Given the description of an element on the screen output the (x, y) to click on. 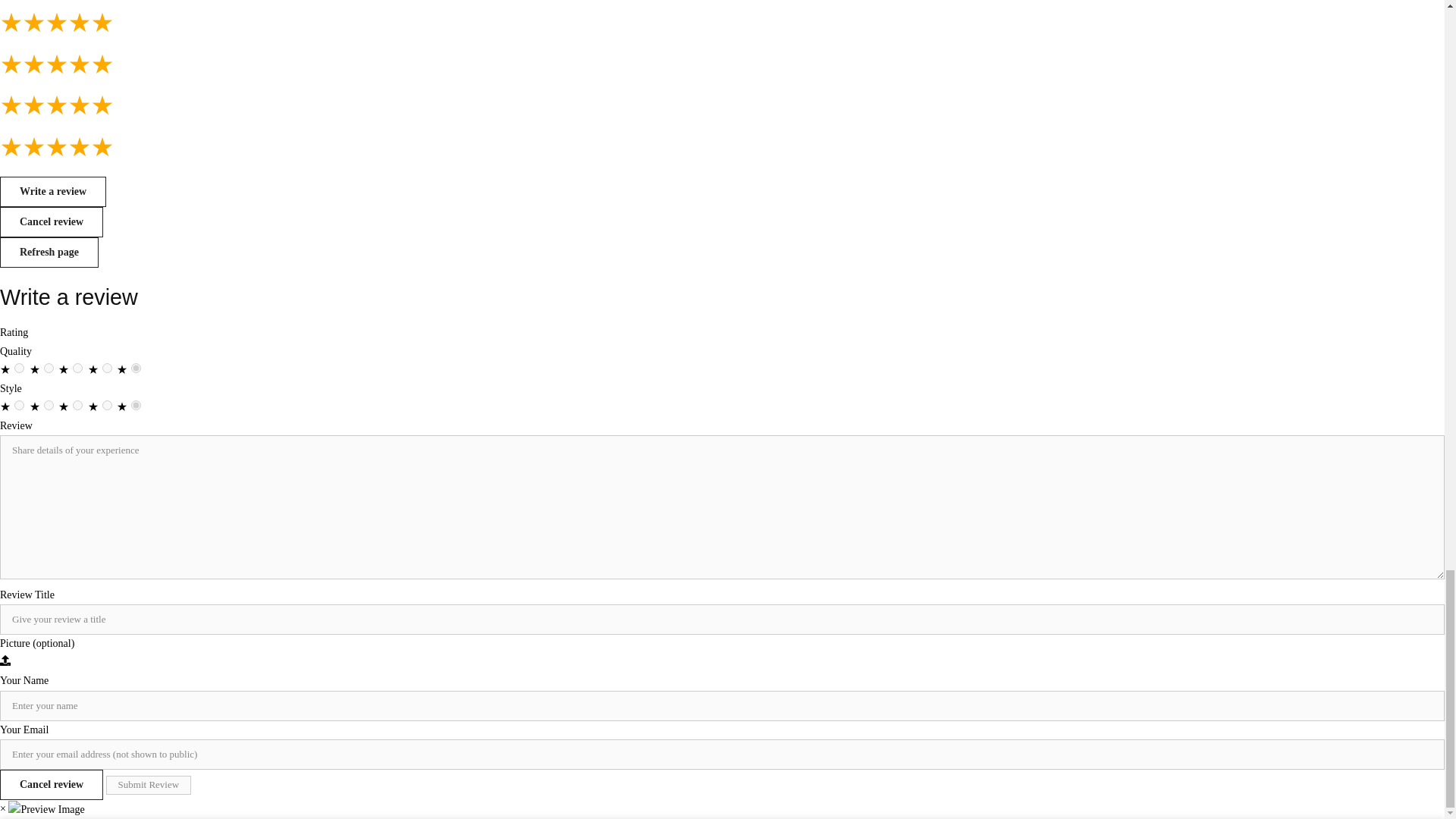
3 (77, 368)
1 (19, 405)
2 (48, 405)
5 (136, 405)
3 (77, 405)
2 (48, 368)
1 (19, 368)
5 (136, 368)
Submit Review (149, 784)
4 (106, 405)
